Given the description of an element on the screen output the (x, y) to click on. 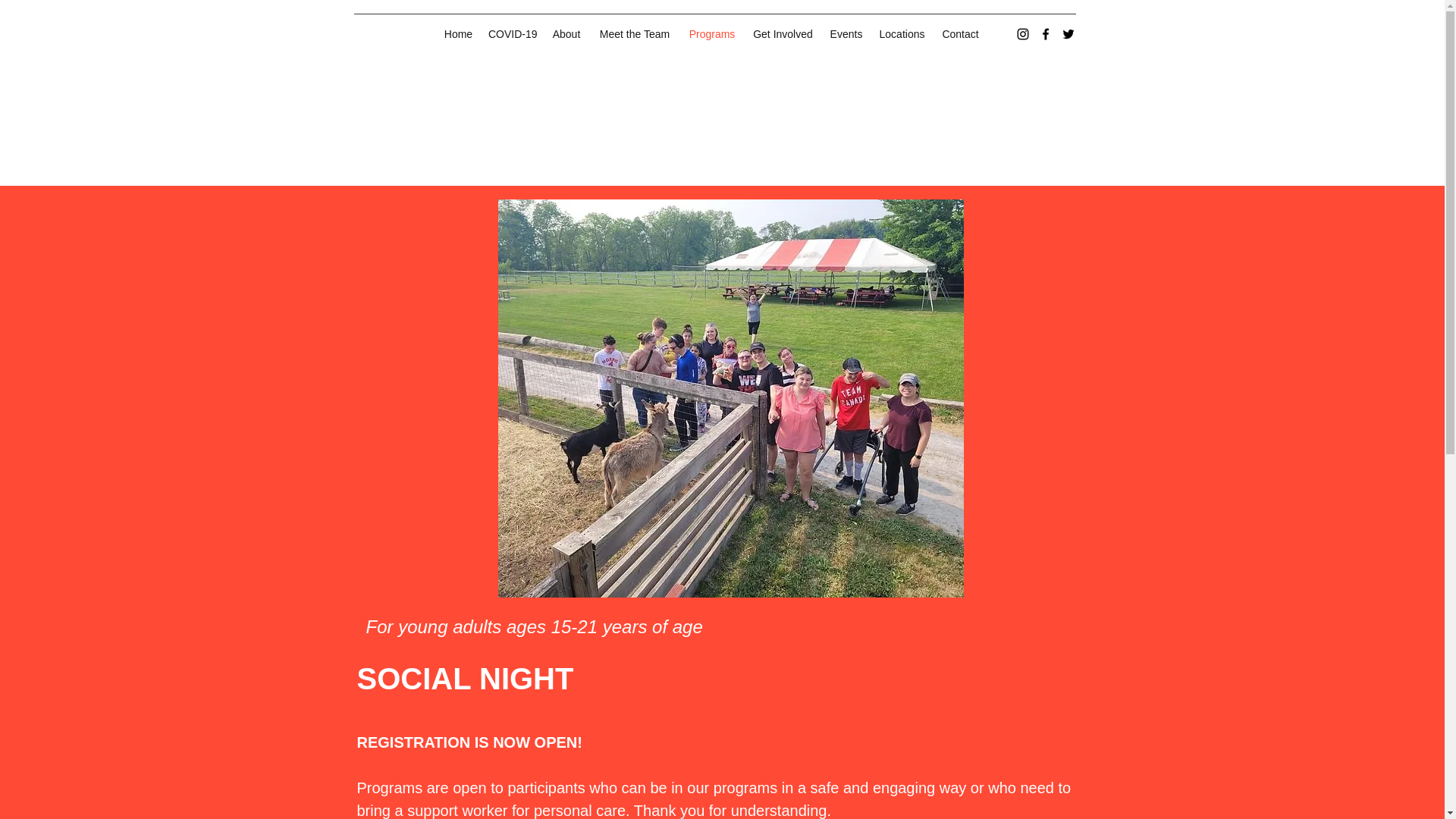
Locations (901, 33)
Meet the Team (634, 33)
Home (457, 33)
Contact (960, 33)
About (566, 33)
Get Involved (783, 33)
Events (846, 33)
Programs (711, 33)
COVID-19 (511, 33)
